Given the description of an element on the screen output the (x, y) to click on. 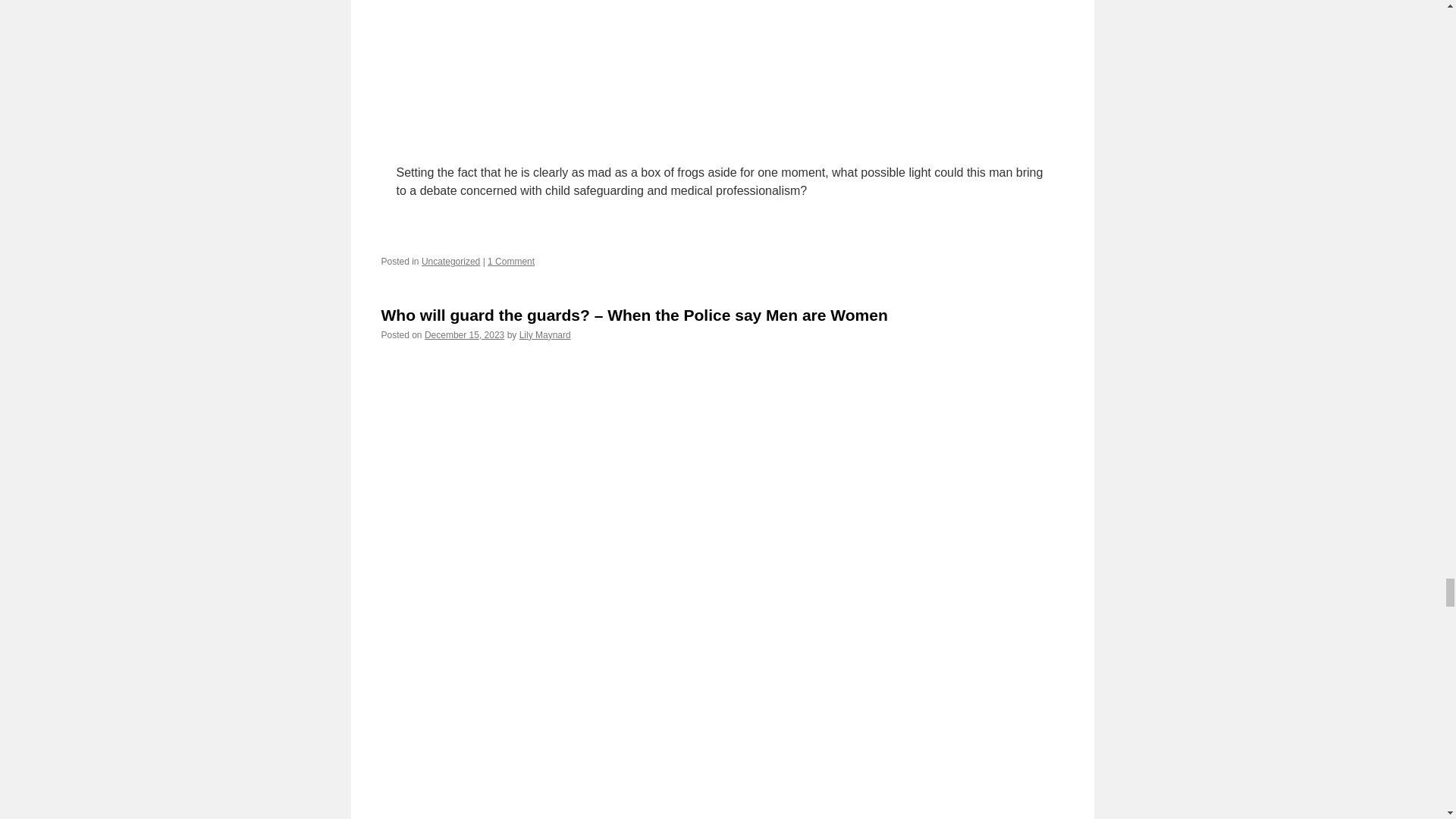
Uncategorized (451, 261)
Lily Maynard (544, 335)
View all posts by Lily Maynard (544, 335)
December 15, 2023 (464, 335)
1 Comment (510, 261)
2:40 am (464, 335)
